Given the description of an element on the screen output the (x, y) to click on. 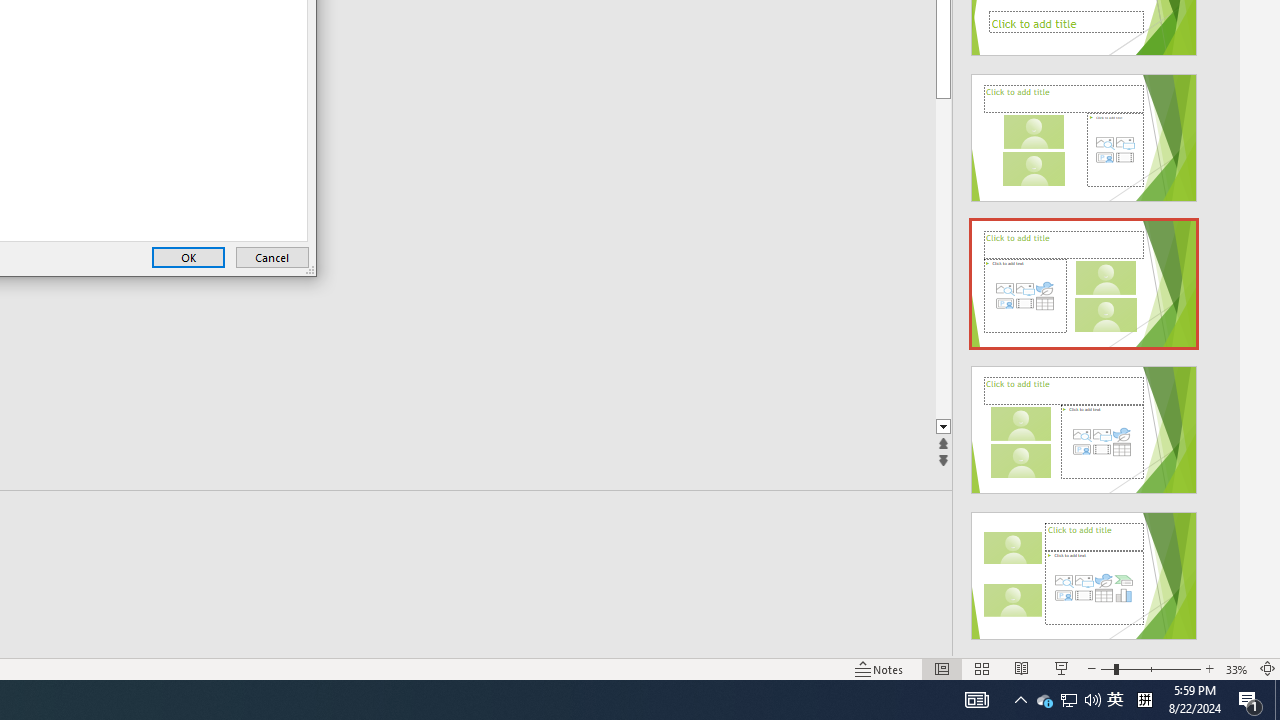
OK (188, 257)
Zoom 33% (1236, 668)
Cancel (272, 257)
Design Idea (1083, 569)
IME Mode Icon - IME is disabled (1115, 699)
